Given the description of an element on the screen output the (x, y) to click on. 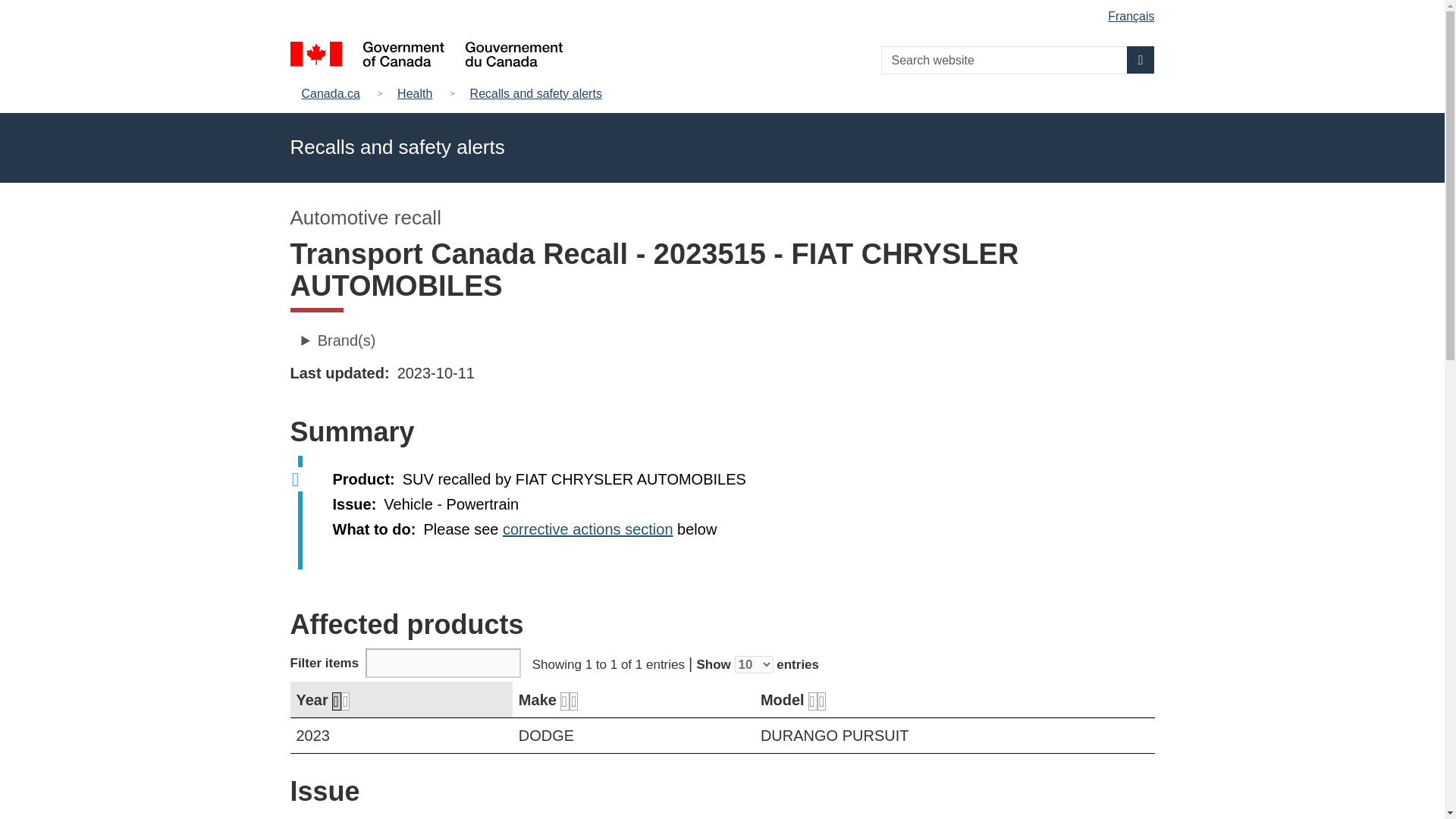
Health (414, 93)
Recalls and safety alerts (536, 93)
Search (1140, 58)
Skip to main content (725, 11)
corrective actions section (587, 528)
Canada.ca (334, 93)
Search (1140, 58)
